Given the description of an element on the screen output the (x, y) to click on. 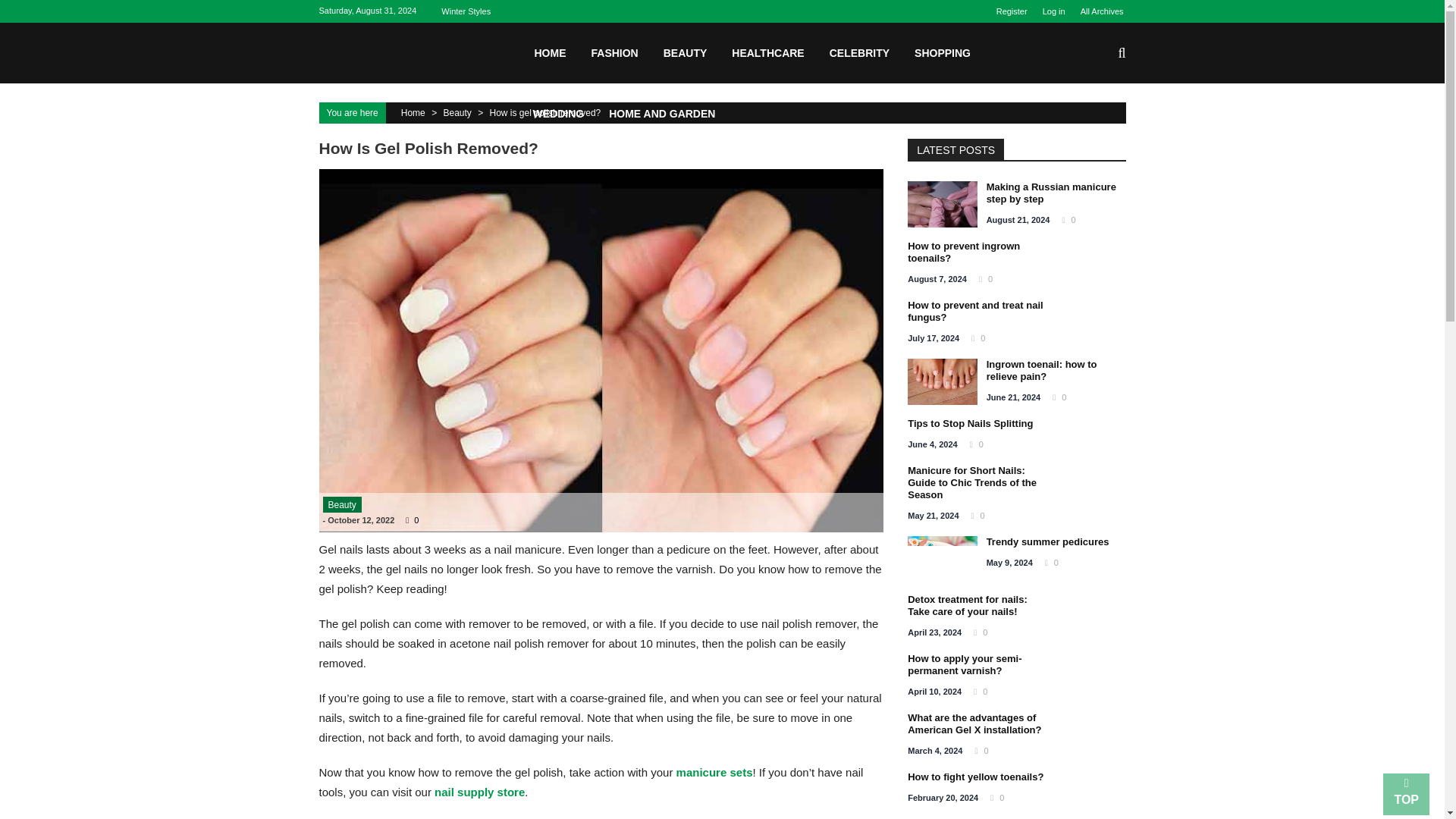
WEDDING (557, 113)
Beauty (342, 504)
SHOPPING (942, 52)
Log in (1054, 10)
Winter Styles (469, 10)
Beauty (456, 112)
HOME AND GARDEN (661, 113)
HOME (550, 52)
BEAUTY (685, 52)
Register (1015, 10)
